Given the description of an element on the screen output the (x, y) to click on. 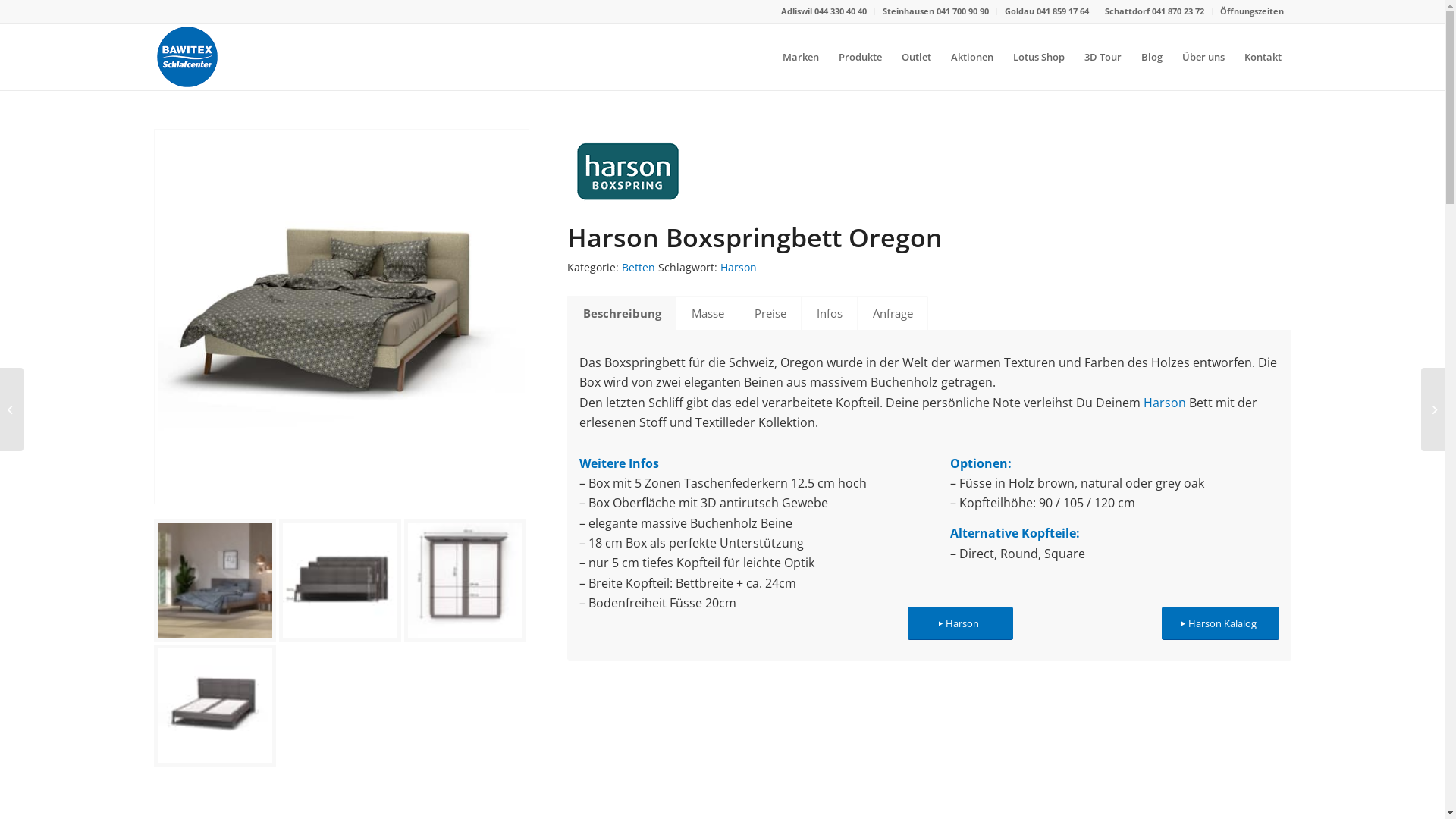
Infos Element type: text (828, 312)
Goldau Element type: text (1019, 10)
041 870 23 72 Element type: text (1177, 10)
Harson Element type: text (960, 623)
Outlet Element type: text (916, 56)
Blog Element type: text (1151, 56)
041 859 17 64 Element type: text (1061, 10)
041 700 90 90 Element type: text (961, 10)
Kontakt Element type: text (1262, 56)
Steinhausen Element type: text (909, 10)
Harson Element type: text (1164, 402)
Produkte Element type: text (859, 56)
Lotus Shop Element type: text (1037, 56)
Marken Element type: text (799, 56)
Adliswil Element type: text (797, 10)
Preise Element type: text (769, 312)
Harson Element type: text (738, 267)
Harson Kalalog Element type: text (1220, 623)
Masse Element type: text (706, 312)
Anfrage Element type: text (892, 312)
Aktionen Element type: text (971, 56)
Betten Element type: text (638, 267)
Schattdorf Element type: text (1127, 10)
044 330 40 40 Element type: text (840, 10)
3D Tour Element type: text (1101, 56)
Alternative Kopfteile Element type: text (1013, 532)
Beschreibung Element type: text (621, 312)
Markenlogo Element type: hover (627, 170)
